Given the description of an element on the screen output the (x, y) to click on. 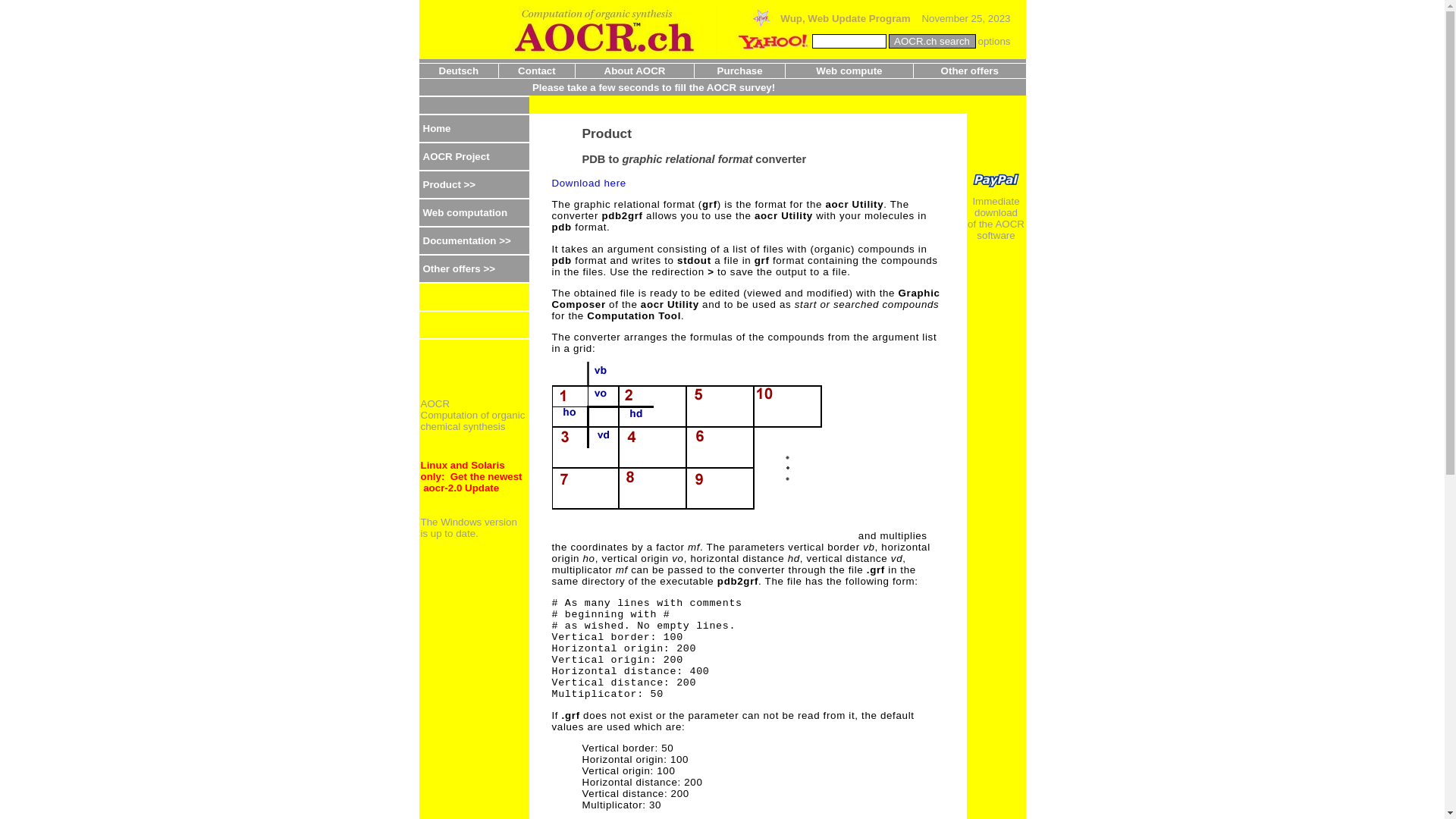
Web compute Element type: text (848, 70)
Download here Element type: text (589, 182)
Contact Element type: text (536, 70)
Contact Element type: text (536, 70)
Other offers >> Element type: text (459, 268)
Documentation >> Element type: text (467, 240)
Deutsch Element type: text (458, 70)
Web compute Element type: text (849, 70)
options Element type: text (994, 41)
Other offers Element type: text (969, 70)
Web computation Element type: text (465, 212)
Linux and Solaris only:  Get the newest  aocr-2.0 Update Element type: text (470, 476)
Purchase Element type: text (739, 70)
Deutsch Element type: text (459, 70)
AOCR Project Element type: text (456, 156)
About AOCR Element type: text (634, 70)
Home Element type: text (473, 128)
Other offers Element type: text (969, 70)
AOCR Project Element type: text (473, 156)
Wup, Web Update Program Element type: text (829, 18)
About AOCR Element type: text (635, 70)
Purchase Element type: text (739, 70)
Please take a few seconds to fill the AOCR survey! Element type: text (653, 87)
AOCR.ch search Element type: text (931, 41)
Product >> Element type: text (449, 184)
Home Element type: text (437, 128)
Immediate
download
of the AOCR
software Element type: text (995, 184)
Web computation Element type: text (473, 212)
